Given the description of an element on the screen output the (x, y) to click on. 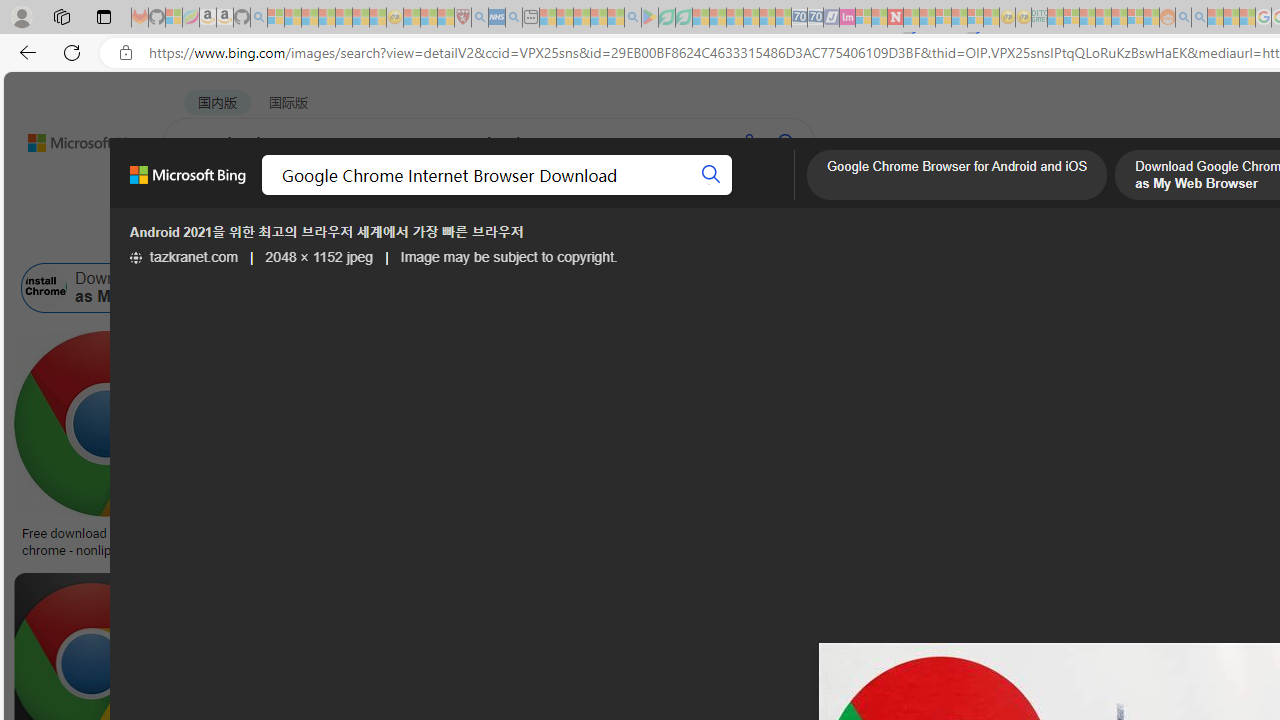
Image result for Google Chrome Internet Browser Download (965, 423)
Google Chrome Search Browser (846, 287)
DICT (717, 195)
Download Google Chrome as My Web Browser (45, 287)
Image size (222, 237)
Dropdown Menu (793, 195)
